Given the description of an element on the screen output the (x, y) to click on. 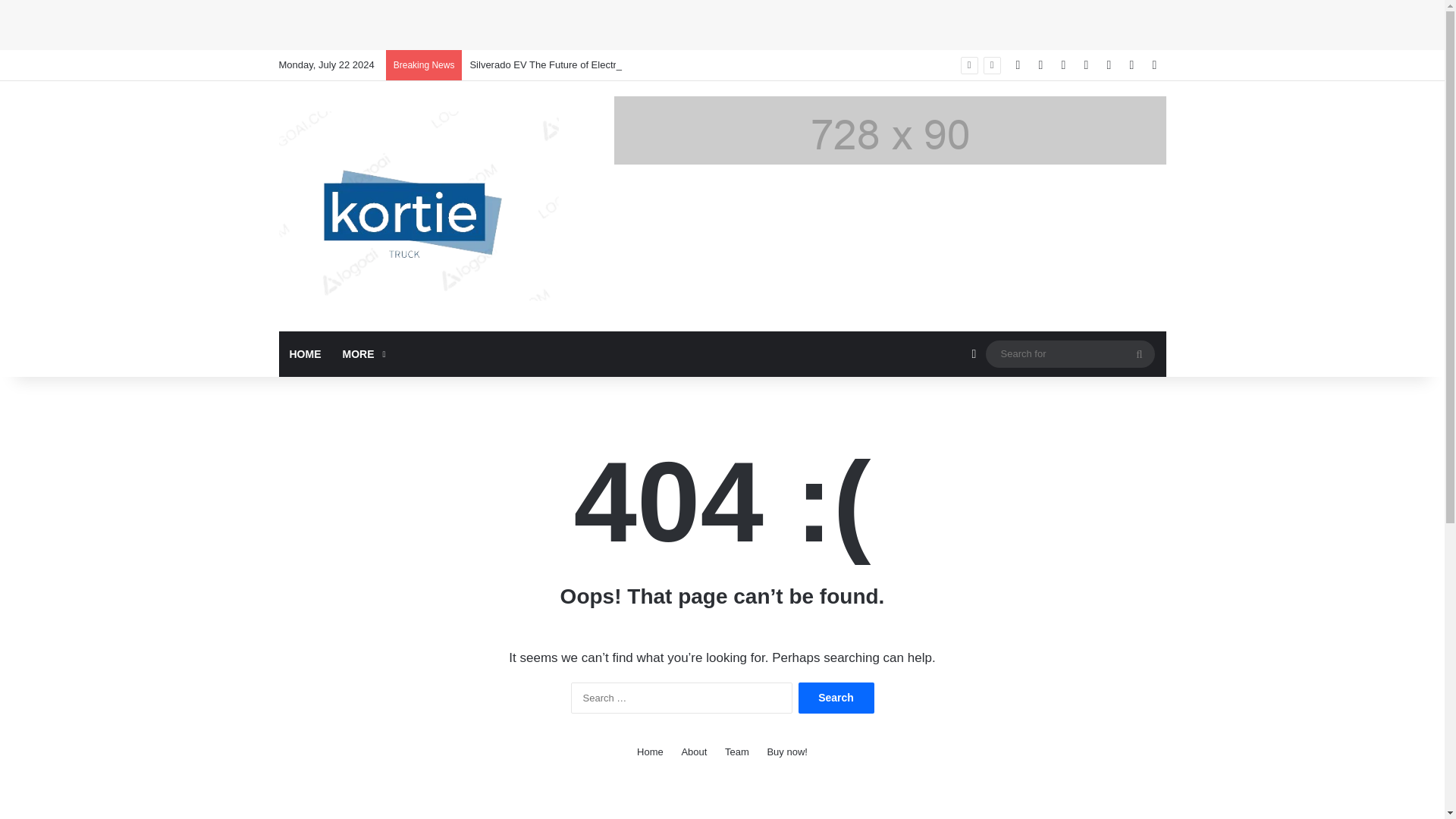
Search for (1139, 353)
Silverado EV The Future of Electric Trucks (561, 64)
MORE (362, 353)
Search (835, 697)
Search for (1069, 353)
Search (835, 697)
kortie (419, 206)
Buy now! (786, 751)
HOME (305, 353)
Advertisement (177, 22)
